Given the description of an element on the screen output the (x, y) to click on. 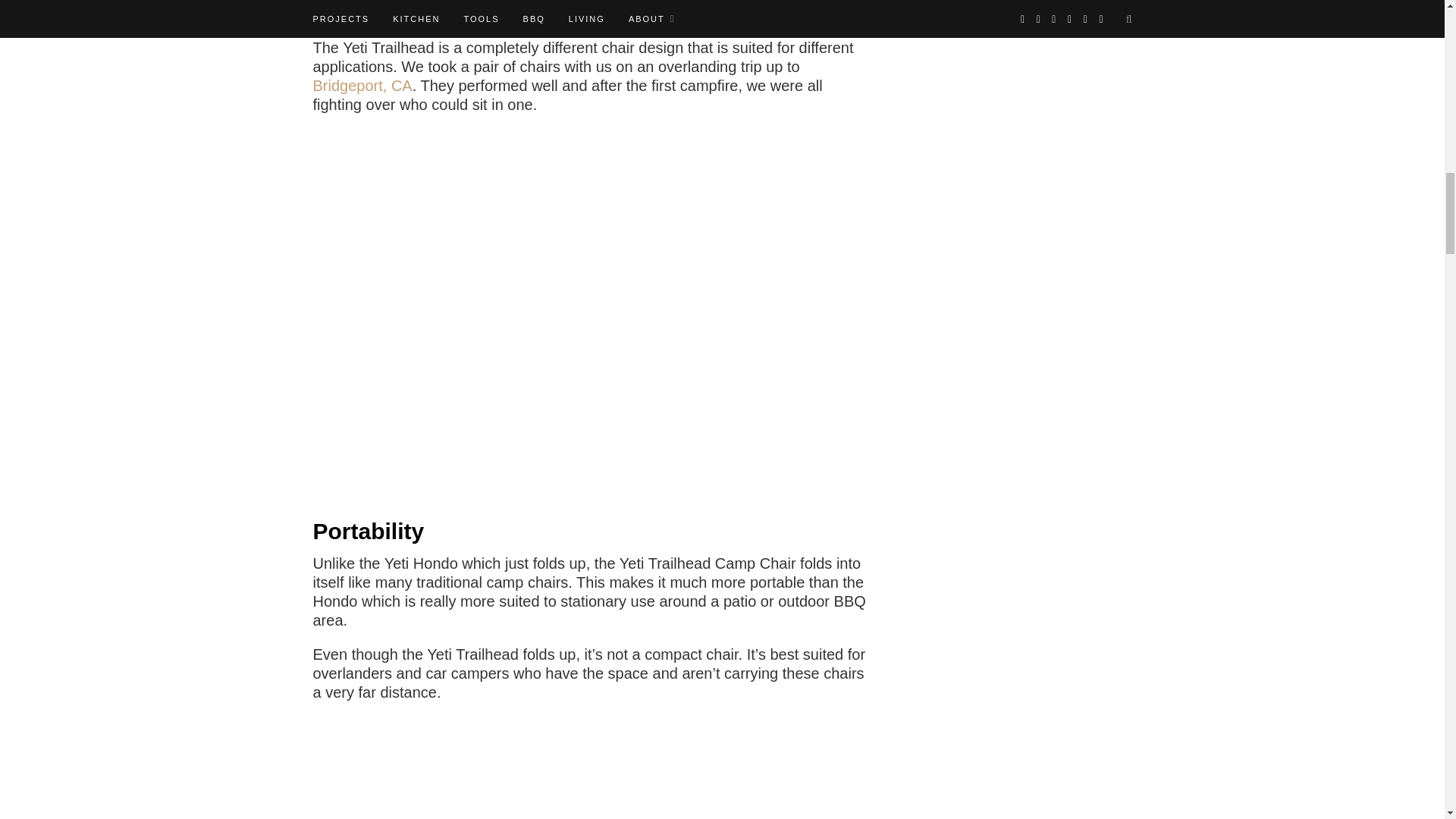
Bridgeport, CA (362, 85)
Yeti Trailhead Camp Chair Review 3 (592, 768)
Watch the Yeti Hondo Base Camp Chair Hold 715 Pounds! (593, 15)
